Given the description of an element on the screen output the (x, y) to click on. 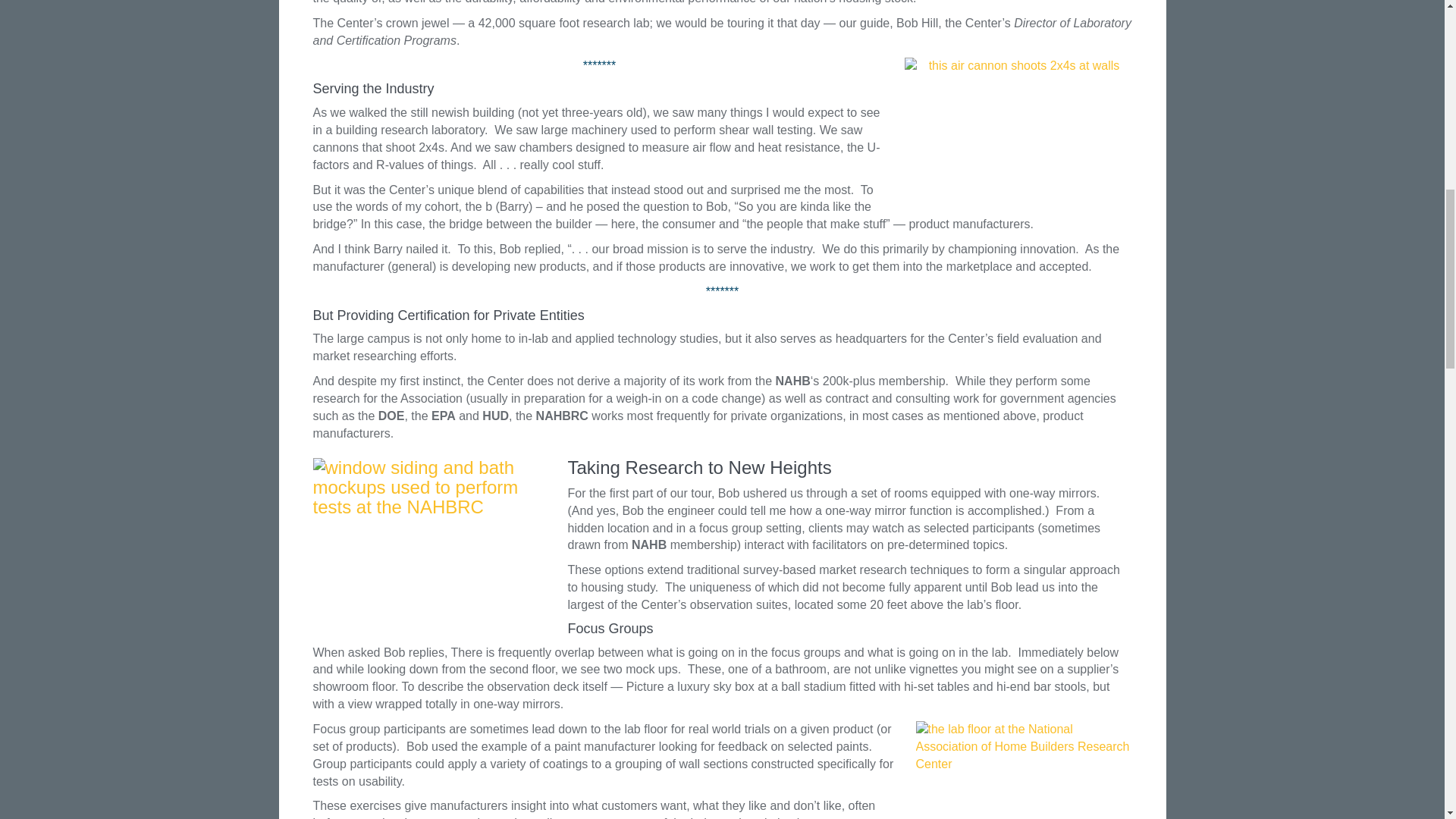
this air cannon shoots 2x4s at walls (1017, 129)
